Given the description of an element on the screen output the (x, y) to click on. 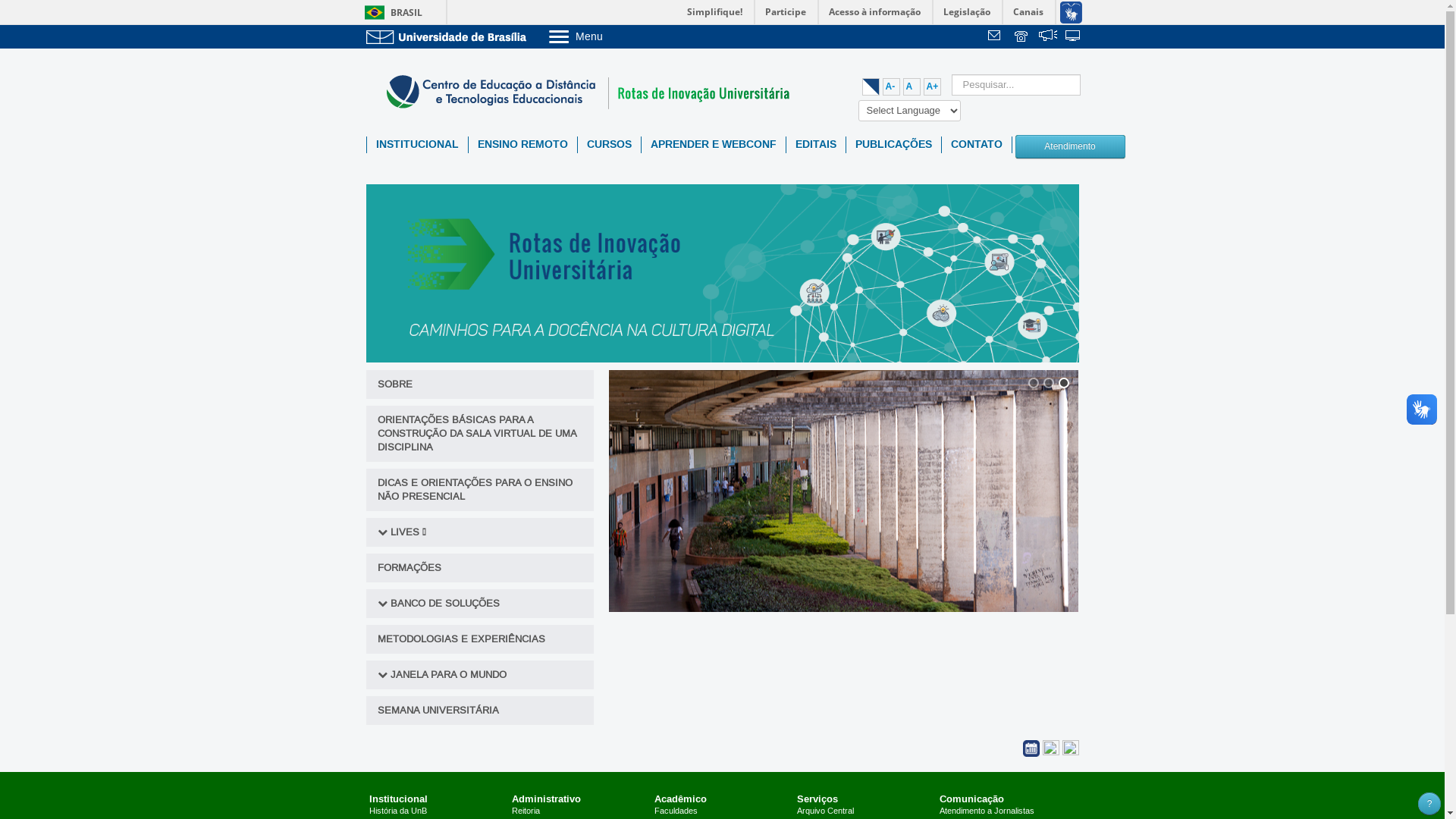
  Element type: text (996, 37)
  Element type: text (1073, 37)
JANELA PARA O MUNDO Element type: text (479, 674)
Atendimento Element type: hover (1069, 144)
Fala.BR Element type: hover (1047, 37)
INSTITUCIONAL Element type: text (417, 144)
  Element type: text (1022, 37)
JANELA PARA O MUNDO Element type: text (447, 674)
EDITAIS Element type: text (814, 144)
SOBRE Element type: text (479, 384)
  Element type: text (1047, 37)
ENSINO REMOTO Element type: text (522, 144)
Reitoria Element type: text (525, 810)
Youtube Element type: hover (1069, 747)
BRASIL Element type: text (389, 12)
A- Element type: text (891, 86)
Ir para o Portal da UnB Element type: hover (448, 36)
APRENDER E WEBCONF Element type: text (713, 144)
CURSOS Element type: text (608, 144)
Atendimento a Jornalistas Element type: text (986, 810)
Sistemas Element type: hover (1073, 37)
A Element type: text (910, 86)
Menu Element type: text (613, 35)
Webmail Element type: hover (996, 37)
Facebook Element type: hover (1051, 747)
Telefones da UnB Element type: hover (1022, 37)
A+ Element type: text (932, 86)
? Element type: text (1429, 803)
Faculdades Element type: text (675, 810)
Atendimento Element type: text (1069, 146)
Arquivo Central Element type: text (825, 810)
CONTATO Element type: text (976, 144)
